Given the description of an element on the screen output the (x, y) to click on. 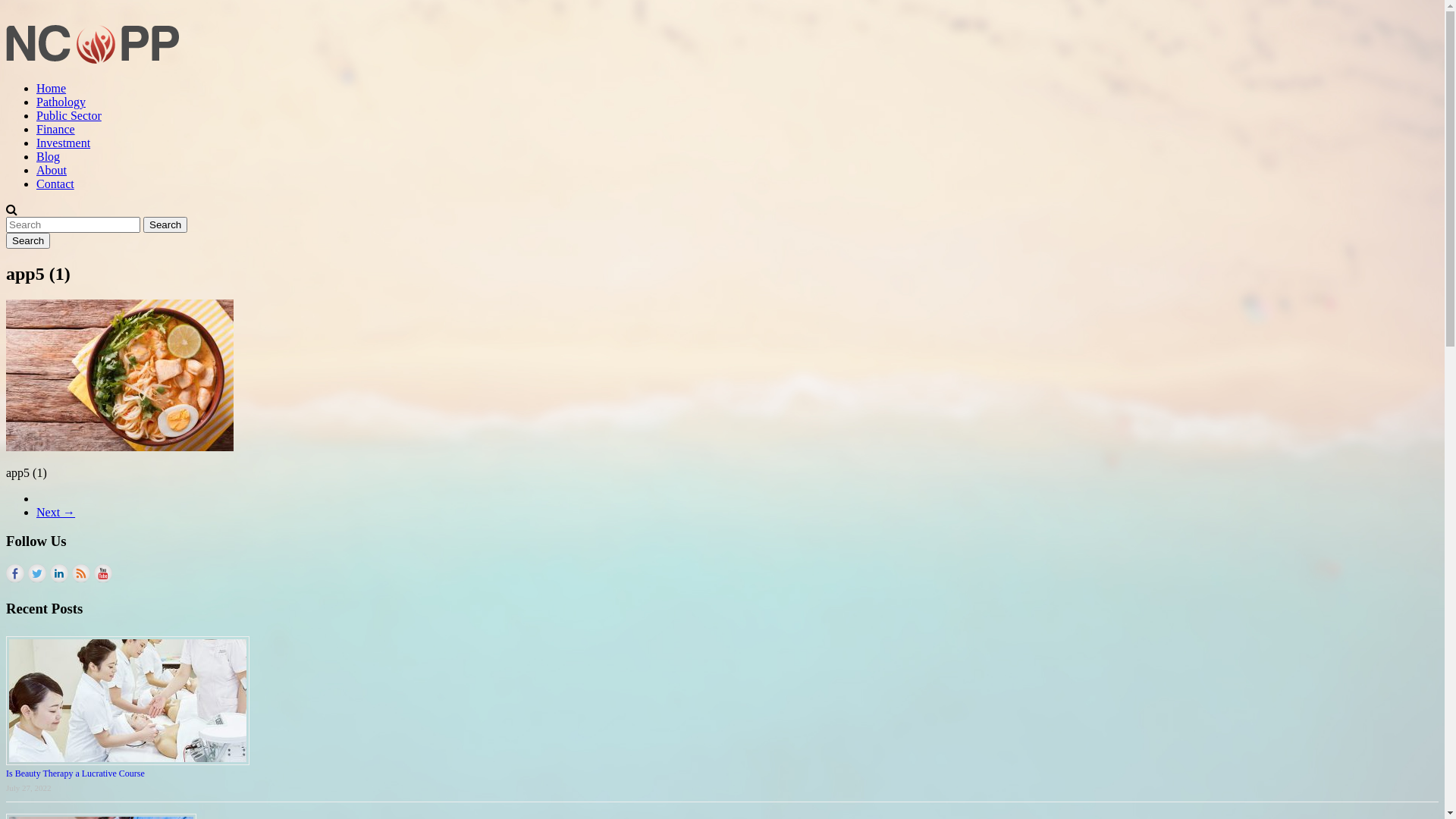
Investment Element type: text (63, 142)
Is Beauty Therapy a Lucrative Course Element type: text (75, 773)
Find us on Linkedin Element type: hover (59, 573)
Finance Element type: text (55, 128)
Follow us on Facebook Element type: hover (15, 573)
Search Element type: text (165, 224)
Search Element type: text (28, 240)
Contact Element type: text (55, 183)
Pathology Element type: text (60, 101)
Subscribe to our RSS Feed Element type: hover (81, 573)
Skip to content Element type: text (5, 5)
About Element type: text (51, 169)
Public Sector Element type: text (68, 115)
Find us on YouTube Element type: hover (103, 573)
Follow us on Twitter Element type: hover (37, 573)
Home Element type: text (50, 87)
Blog Element type: text (47, 156)
